Given the description of an element on the screen output the (x, y) to click on. 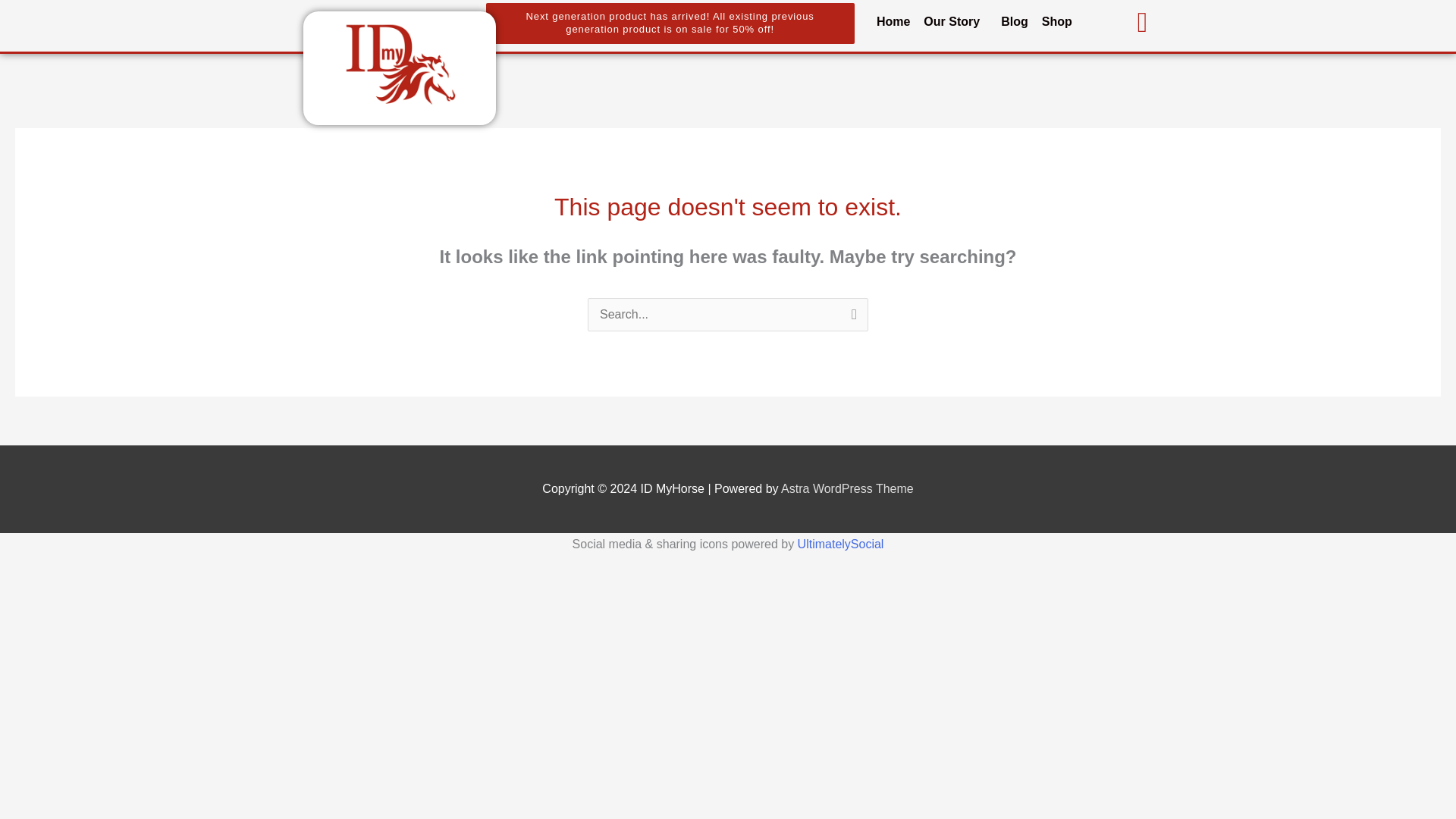
UltimatelySocial (840, 543)
Astra WordPress Theme (847, 488)
Our Story (955, 21)
